Given the description of an element on the screen output the (x, y) to click on. 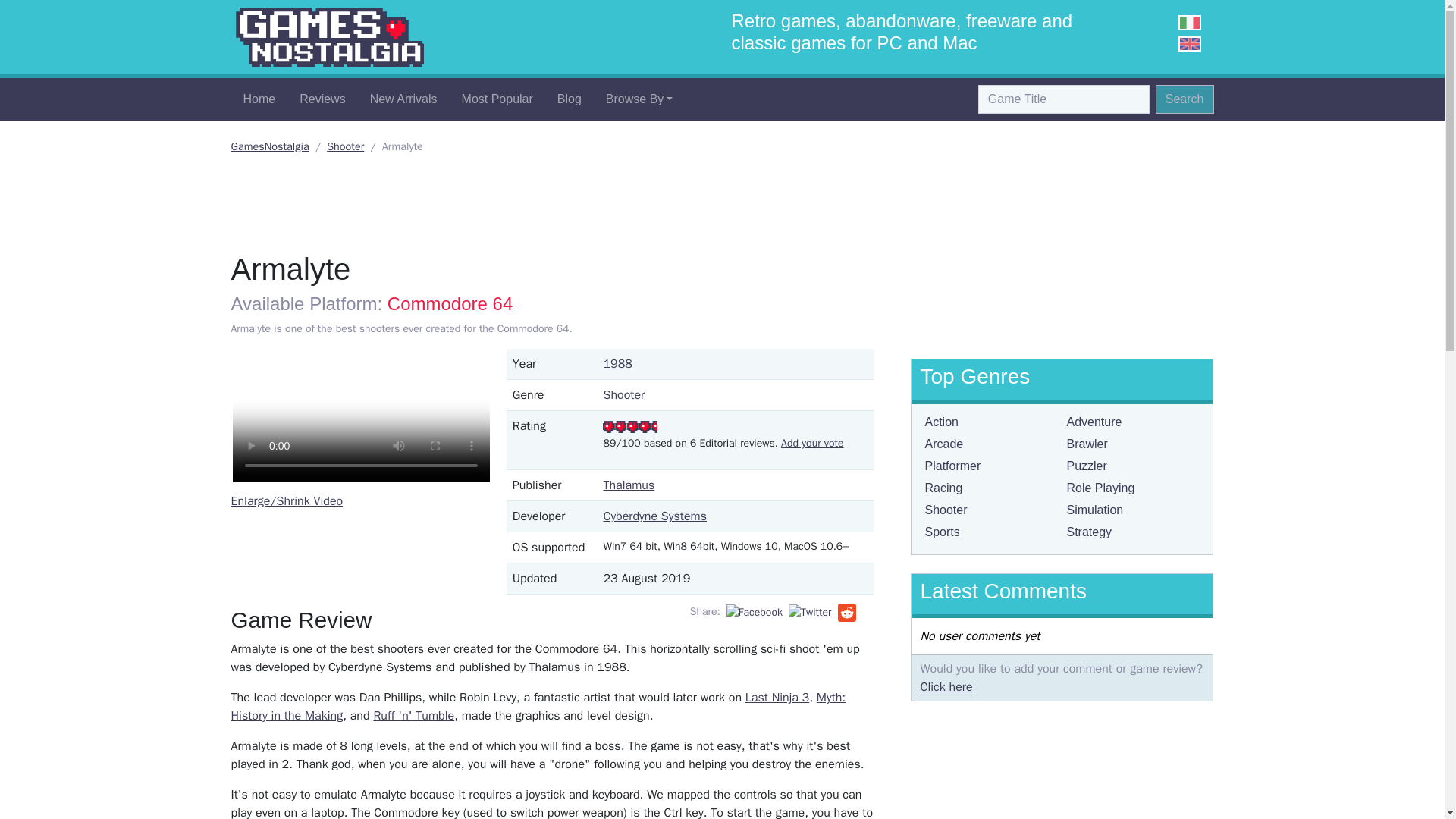
Share on Facebook (754, 611)
Share on Reddit (846, 612)
Reviews (321, 99)
Commodore 64 (449, 303)
Add your vote (811, 442)
Myth: History in the Making (537, 706)
GamesNostalgia (329, 37)
Blog (569, 99)
Share on Twitter (810, 611)
Last Ninja 3 (777, 697)
Ruff 'n' Tumble (413, 715)
Home (258, 99)
GamesNostalgia (269, 146)
Browse By (639, 99)
Shooter (345, 146)
